Given the description of an element on the screen output the (x, y) to click on. 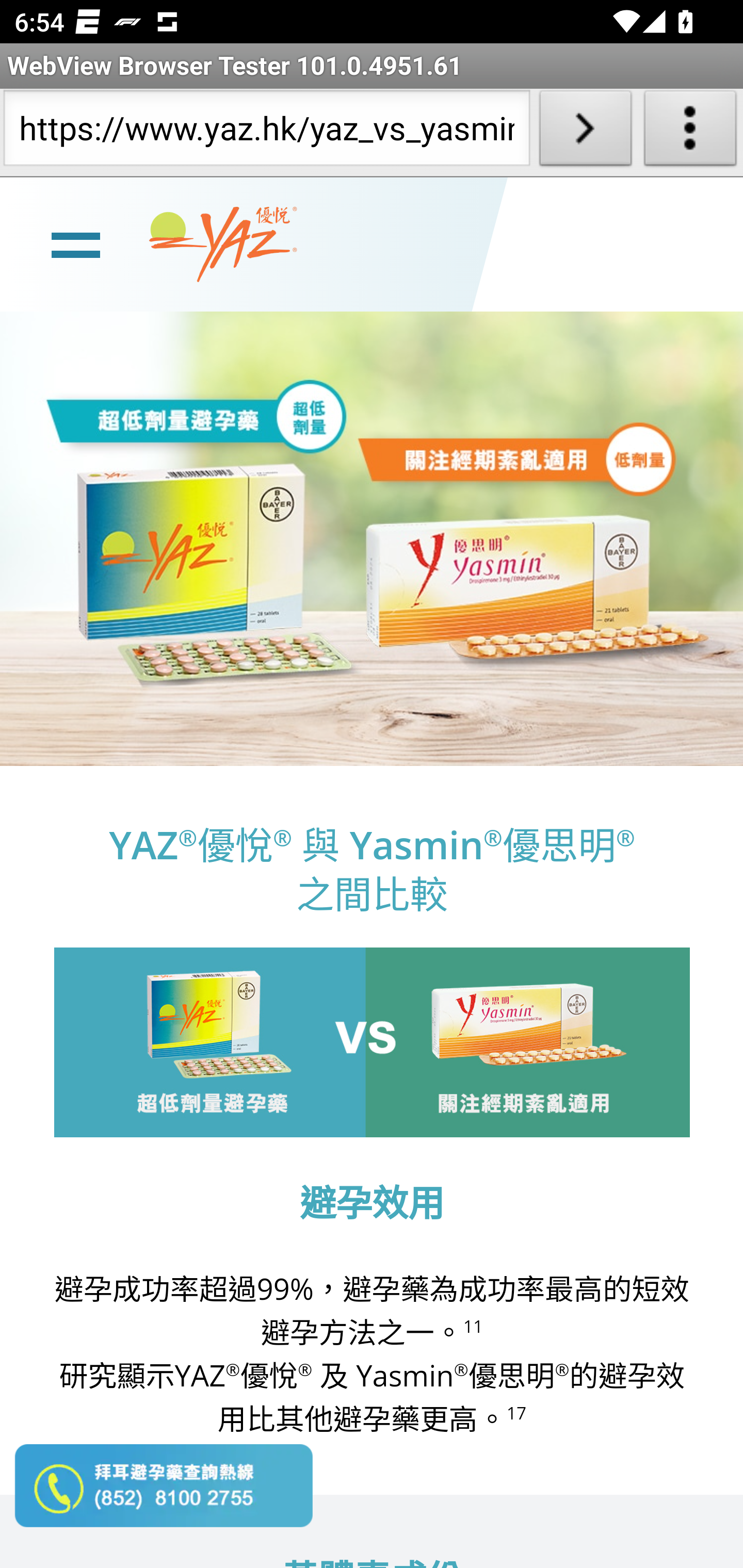
Load URL (585, 132)
About WebView (690, 132)
www.yaz (222, 244)
line Toggle burger menu (75, 242)
